Given the description of an element on the screen output the (x, y) to click on. 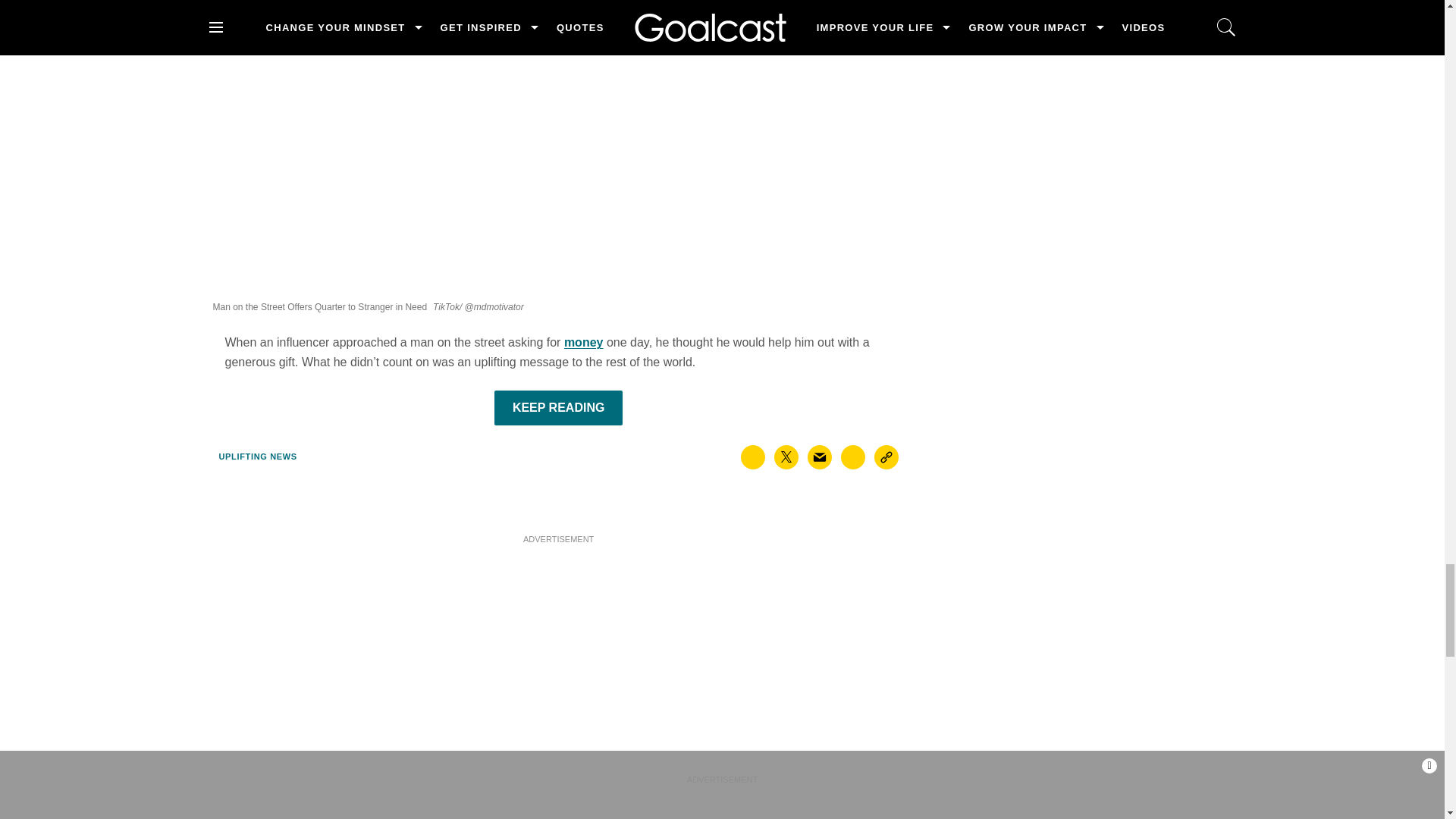
Copy this link to clipboard (886, 457)
